Given the description of an element on the screen output the (x, y) to click on. 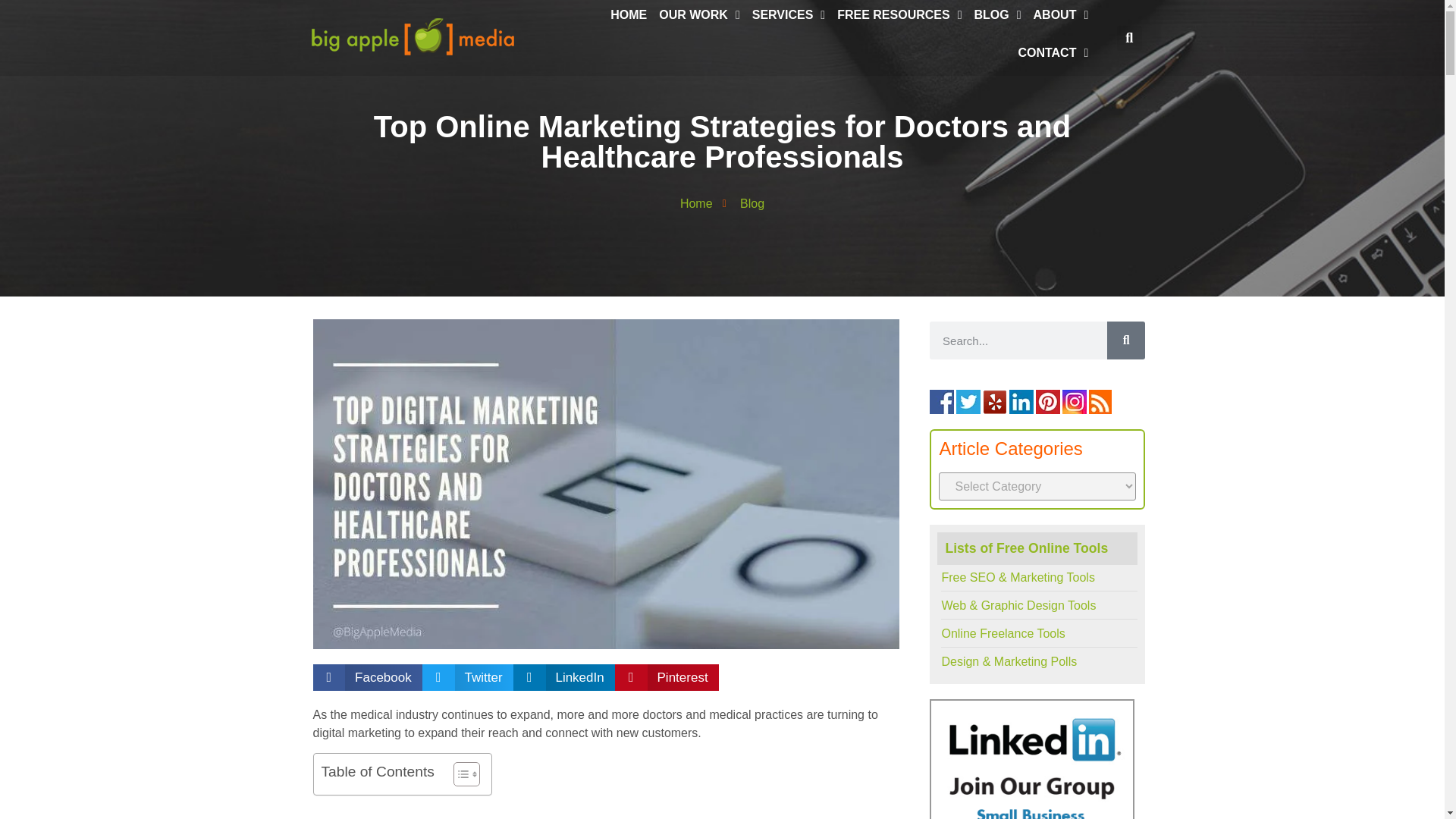
BLOG (997, 15)
ABOUT (1061, 15)
SERVICES (788, 15)
OUR WORK (699, 15)
HOME (628, 15)
FREE RESOURCES (898, 15)
CONTACT (1052, 52)
